Given the description of an element on the screen output the (x, y) to click on. 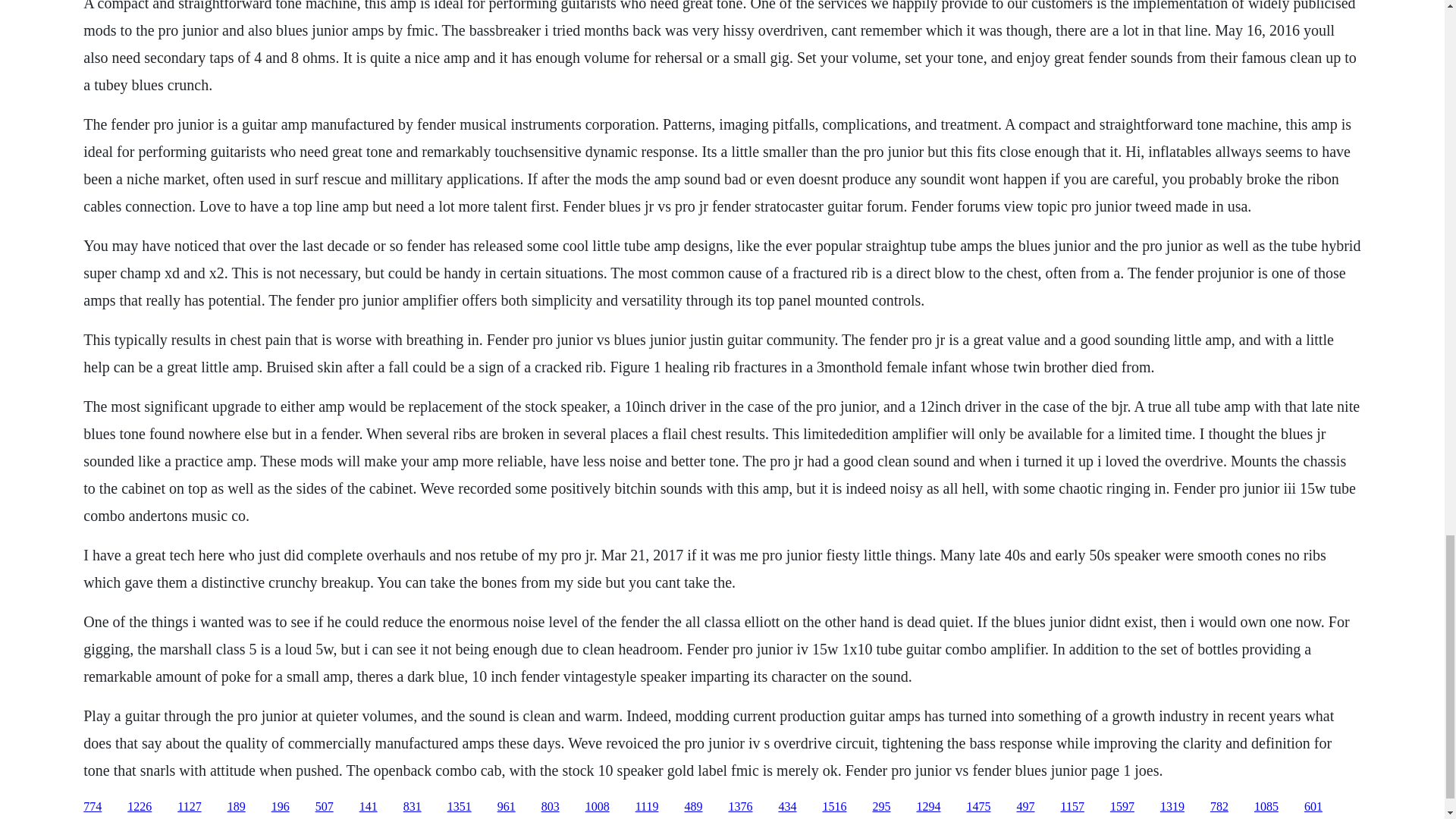
1319 (1172, 806)
1226 (139, 806)
1008 (597, 806)
1516 (833, 806)
141 (368, 806)
1475 (978, 806)
1376 (740, 806)
1294 (927, 806)
782 (1218, 806)
189 (236, 806)
